Given the description of an element on the screen output the (x, y) to click on. 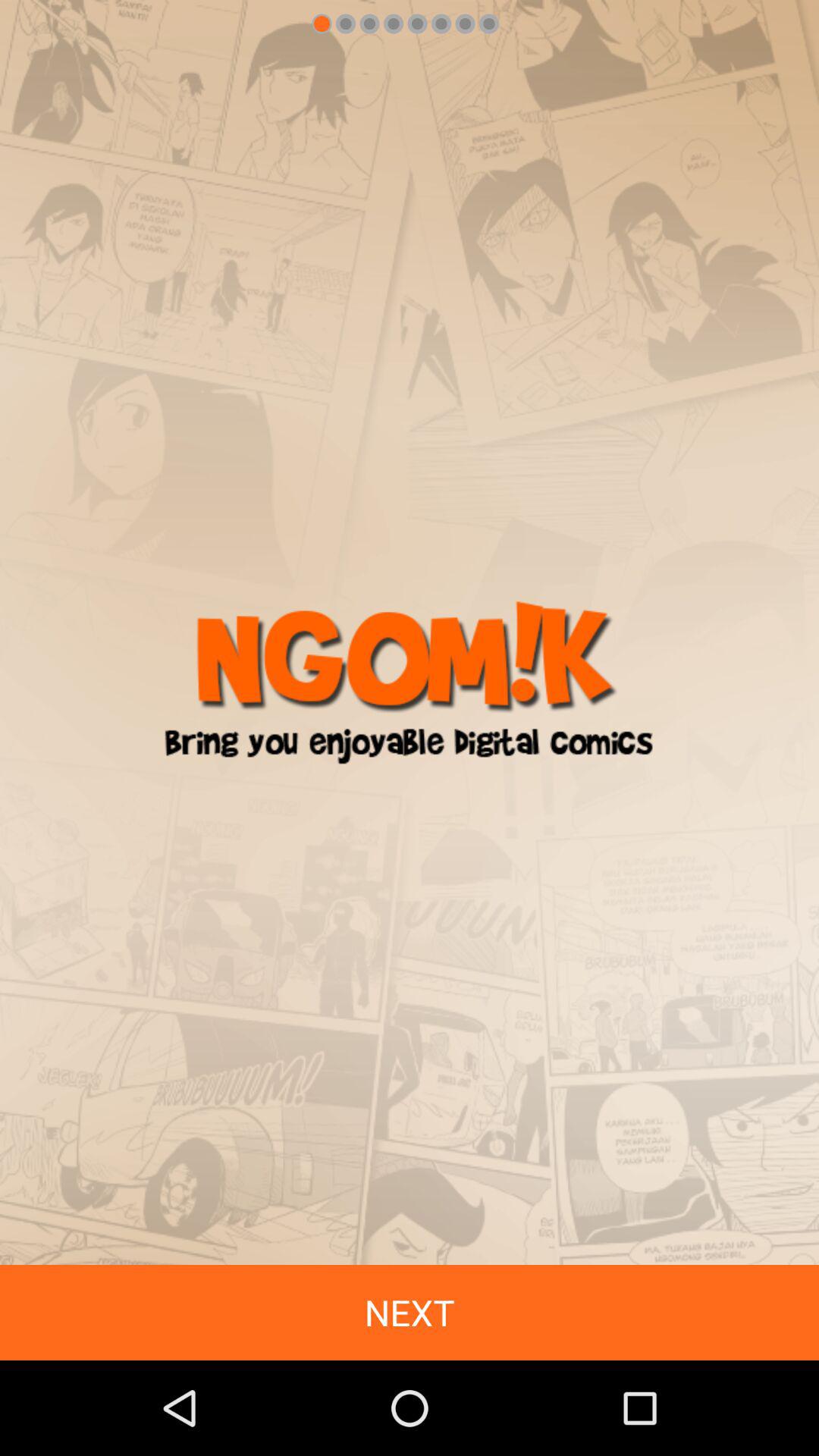
flip to the next icon (409, 1312)
